Given the description of an element on the screen output the (x, y) to click on. 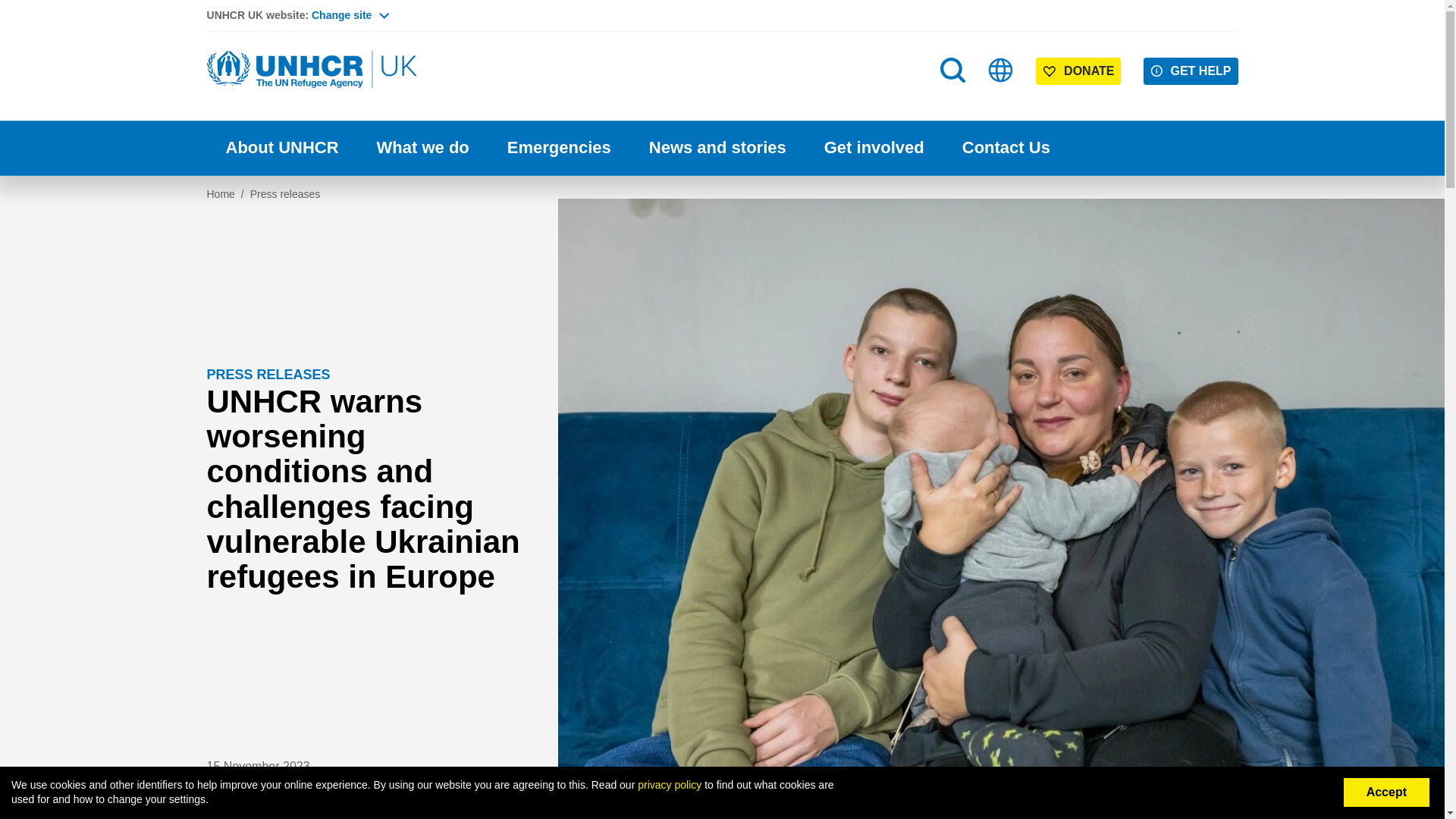
Search (954, 99)
Search (952, 69)
About UNHCR (281, 148)
Home (312, 69)
Skip to main content (721, 1)
Change site (349, 15)
GET HELP (1189, 71)
DONATE (1078, 71)
Sites (1000, 69)
